Given the description of an element on the screen output the (x, y) to click on. 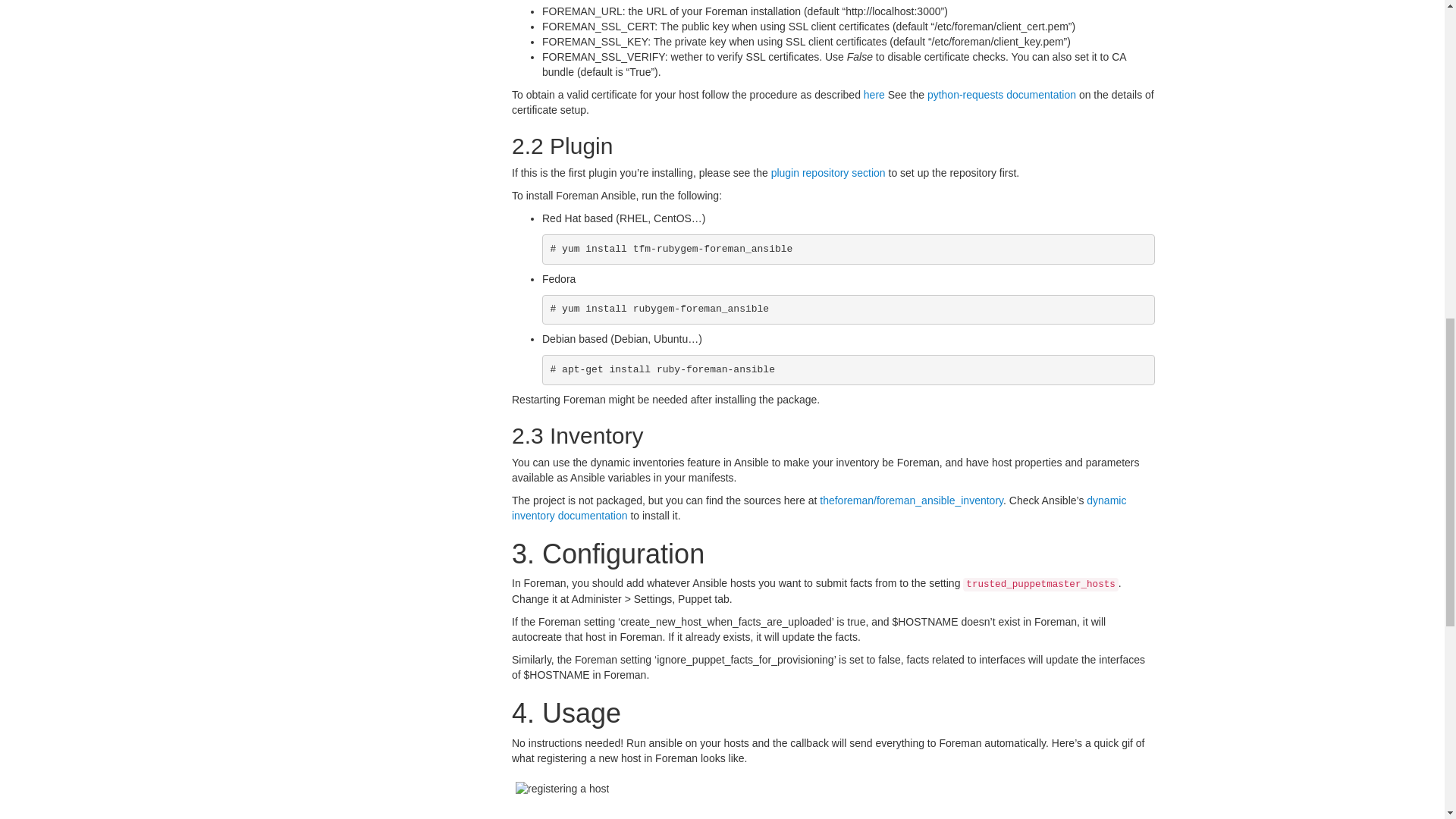
here (874, 94)
dynamic inventory documentation (818, 507)
plugin repository section (828, 173)
python-requests documentation (1001, 94)
